Given the description of an element on the screen output the (x, y) to click on. 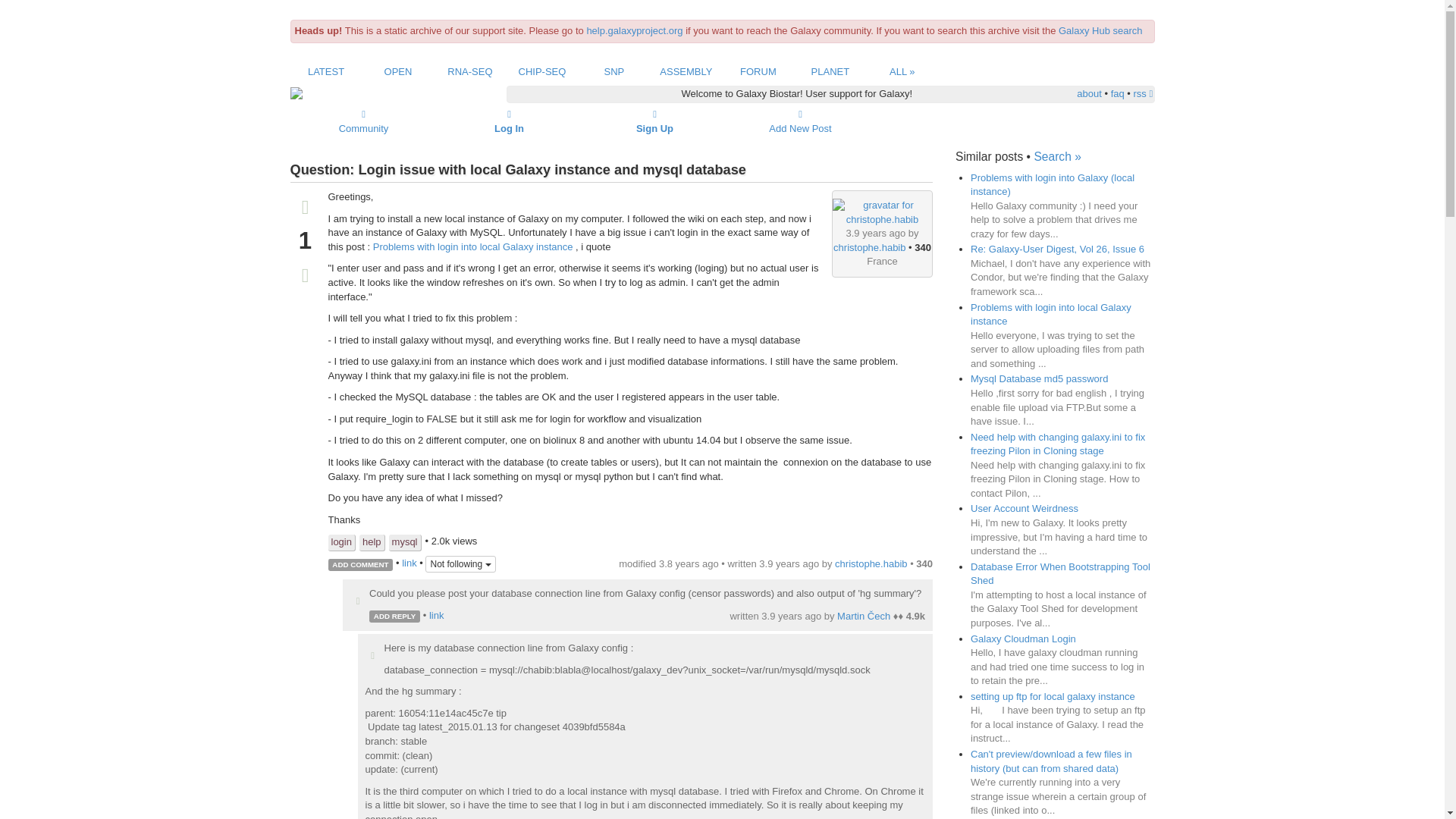
Sign Up (654, 121)
help.galaxyproject.org (634, 30)
OPEN (398, 71)
ASSEMBLY (685, 71)
Galaxy Hub search (1100, 30)
SNP (614, 71)
Upvote! (372, 656)
Upvote! (357, 601)
CHIP-SEQ (542, 71)
christophe.habib (868, 247)
